Given the description of an element on the screen output the (x, y) to click on. 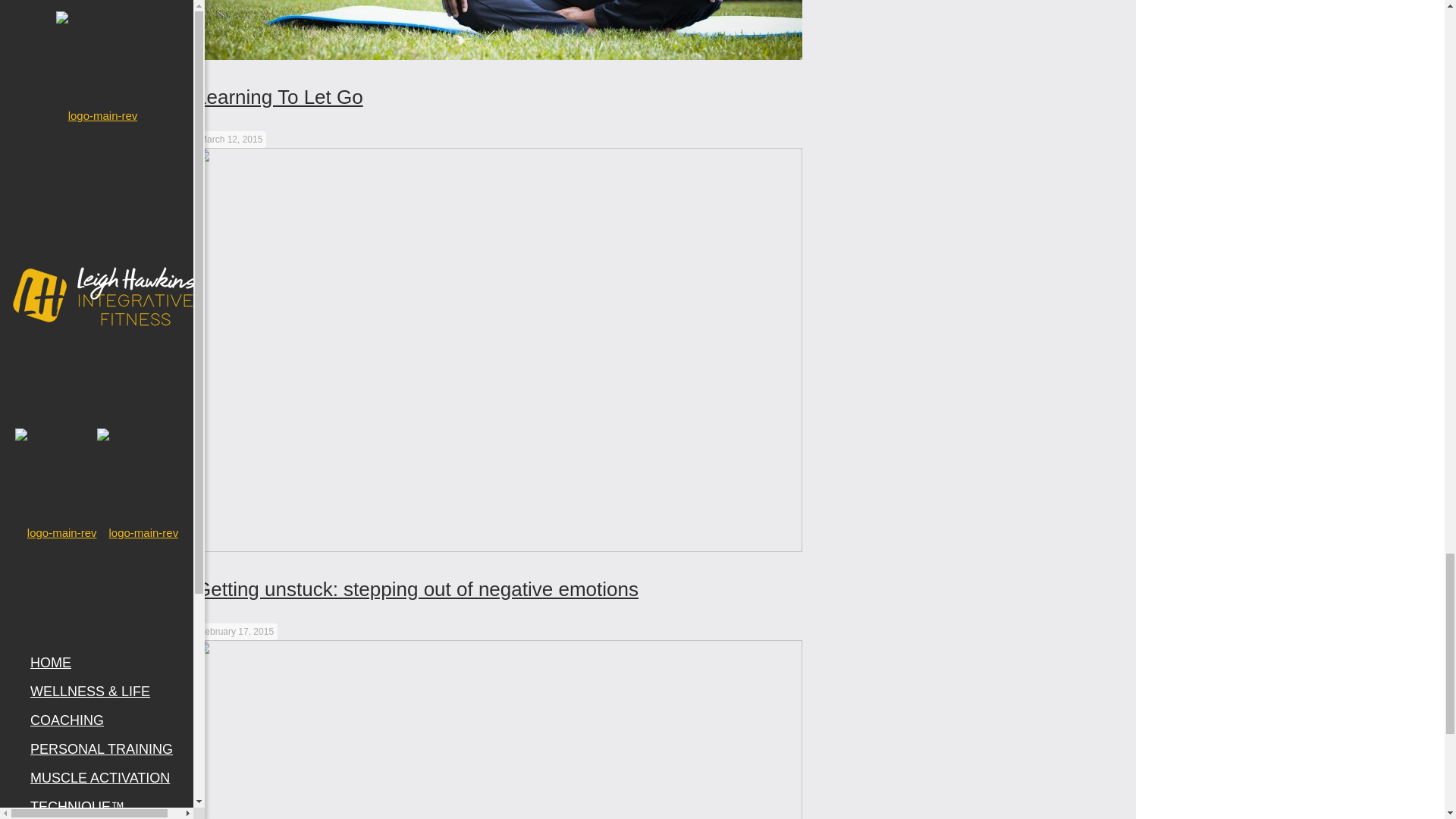
Getting unstuck: stepping out of negative emotions (417, 589)
Learning To Let Go (278, 96)
